Given the description of an element on the screen output the (x, y) to click on. 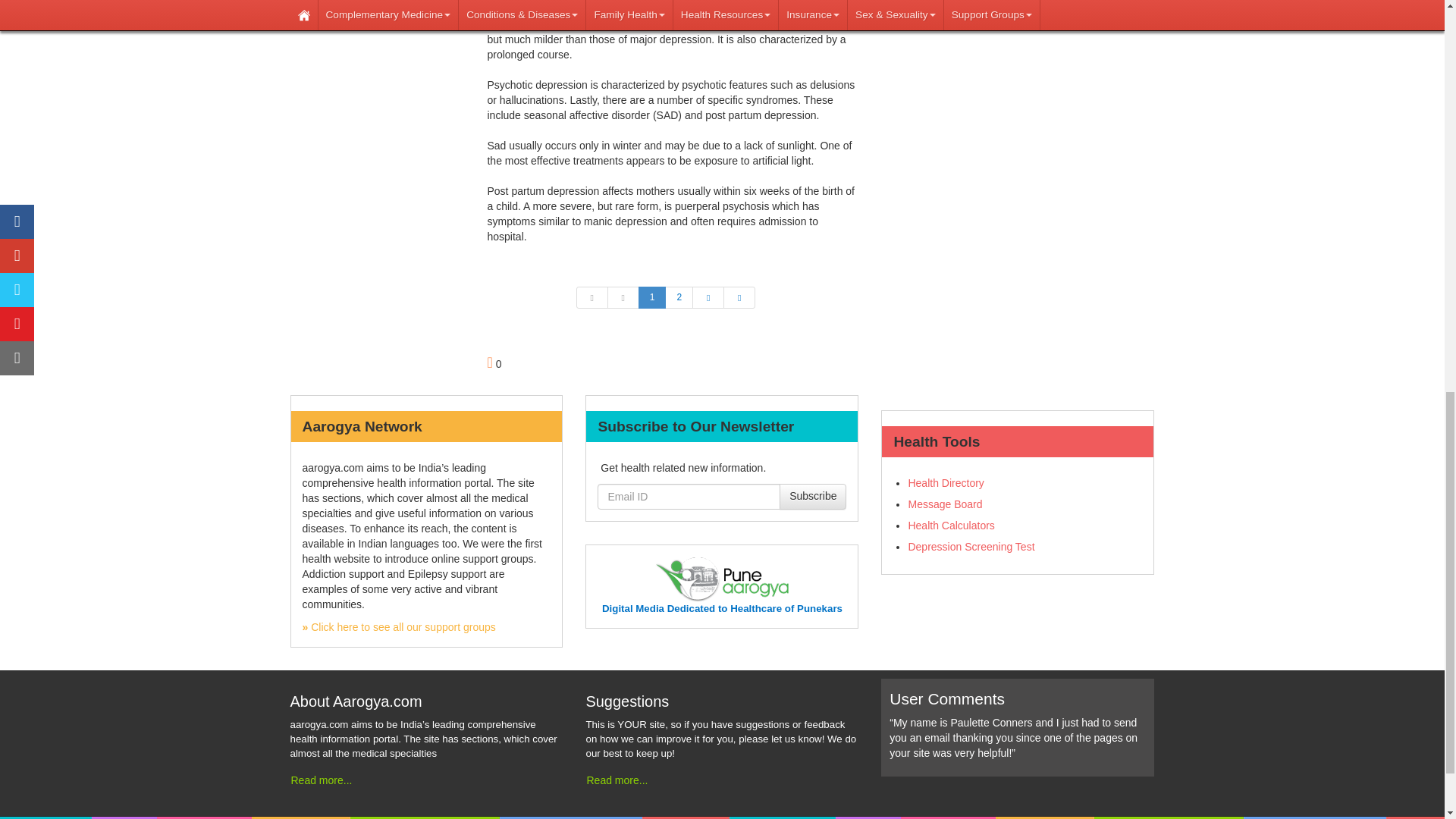
End (739, 297)
2 (679, 297)
Pune Aarogya (722, 577)
Advertisement (1017, 48)
Next (708, 297)
Aarogya Network (398, 626)
Pune Aarogya (722, 608)
